Given the description of an element on the screen output the (x, y) to click on. 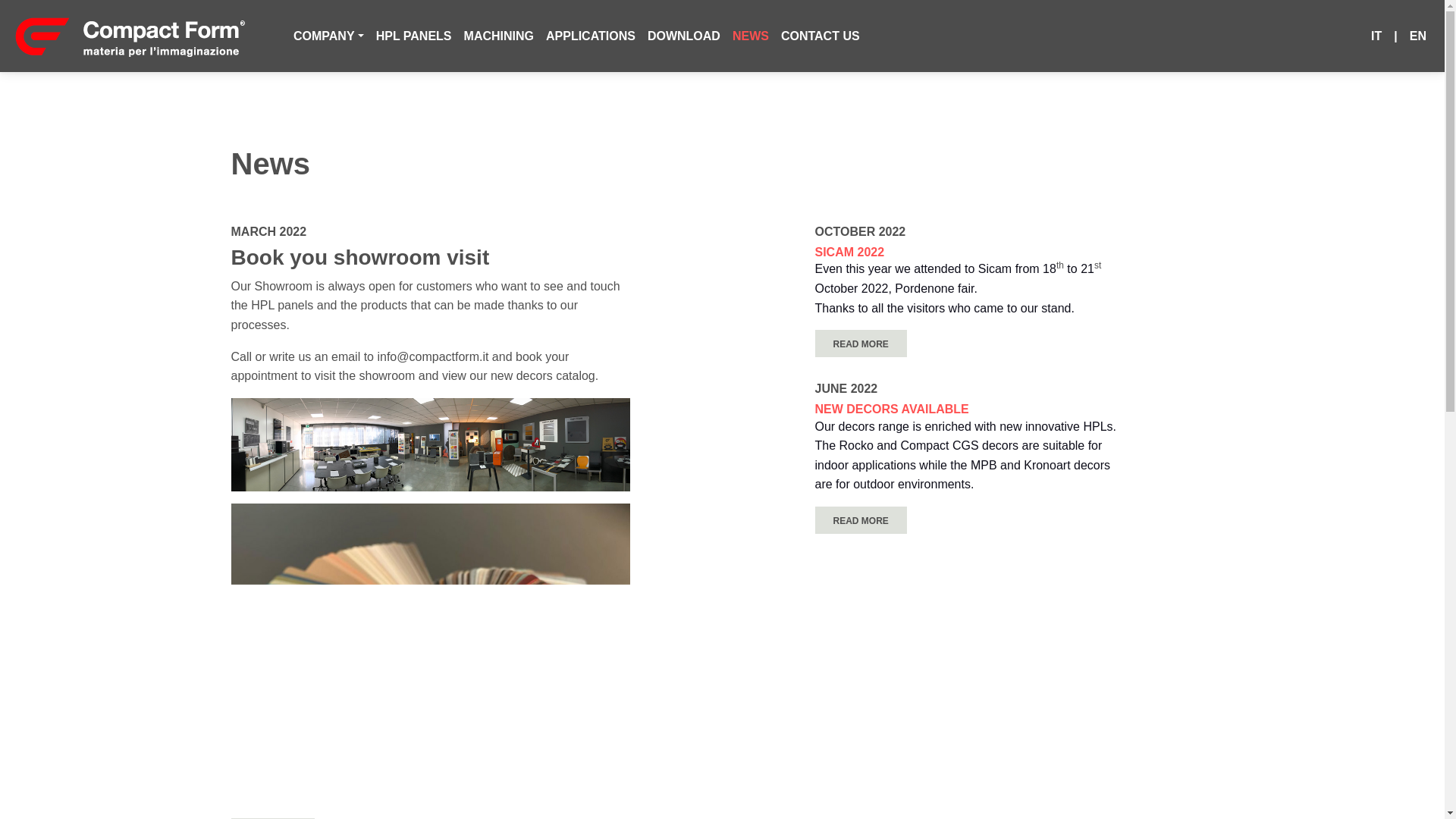
Contact us - Compact Form HPL panels machining (820, 36)
HPL PANELS (413, 36)
DOWNLOAD (684, 36)
READ MORE (859, 519)
MACHINING (499, 36)
Homepage - Compact Form HPL panels machining (129, 36)
EN (1417, 36)
COMPANY (327, 36)
HPL news - Compact Form HPL panels machining (750, 36)
NEWS (750, 36)
CONTACT US (820, 36)
READ MORE (859, 343)
